Given the description of an element on the screen output the (x, y) to click on. 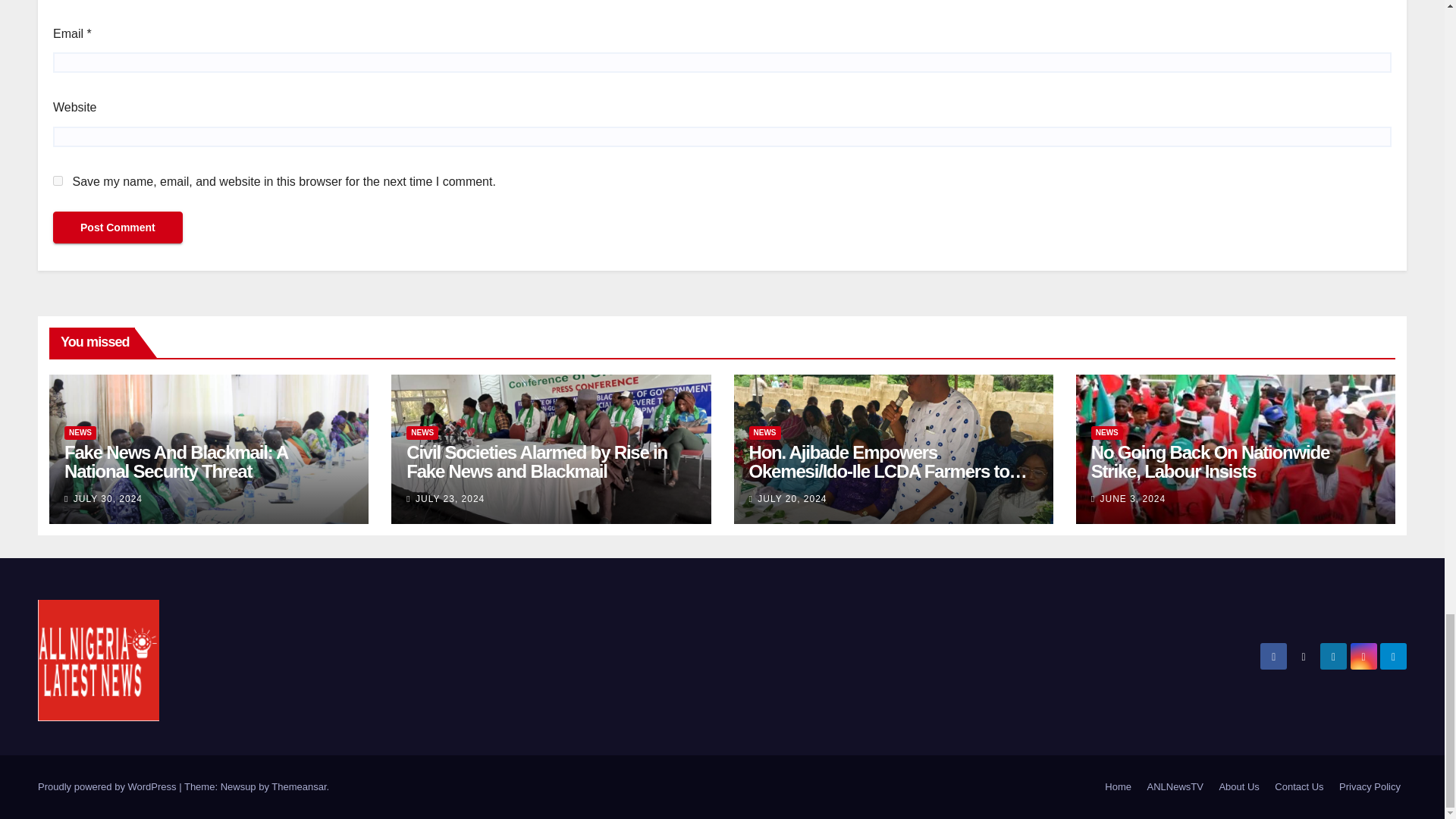
yes (57, 180)
Post Comment (117, 227)
